Given the description of an element on the screen output the (x, y) to click on. 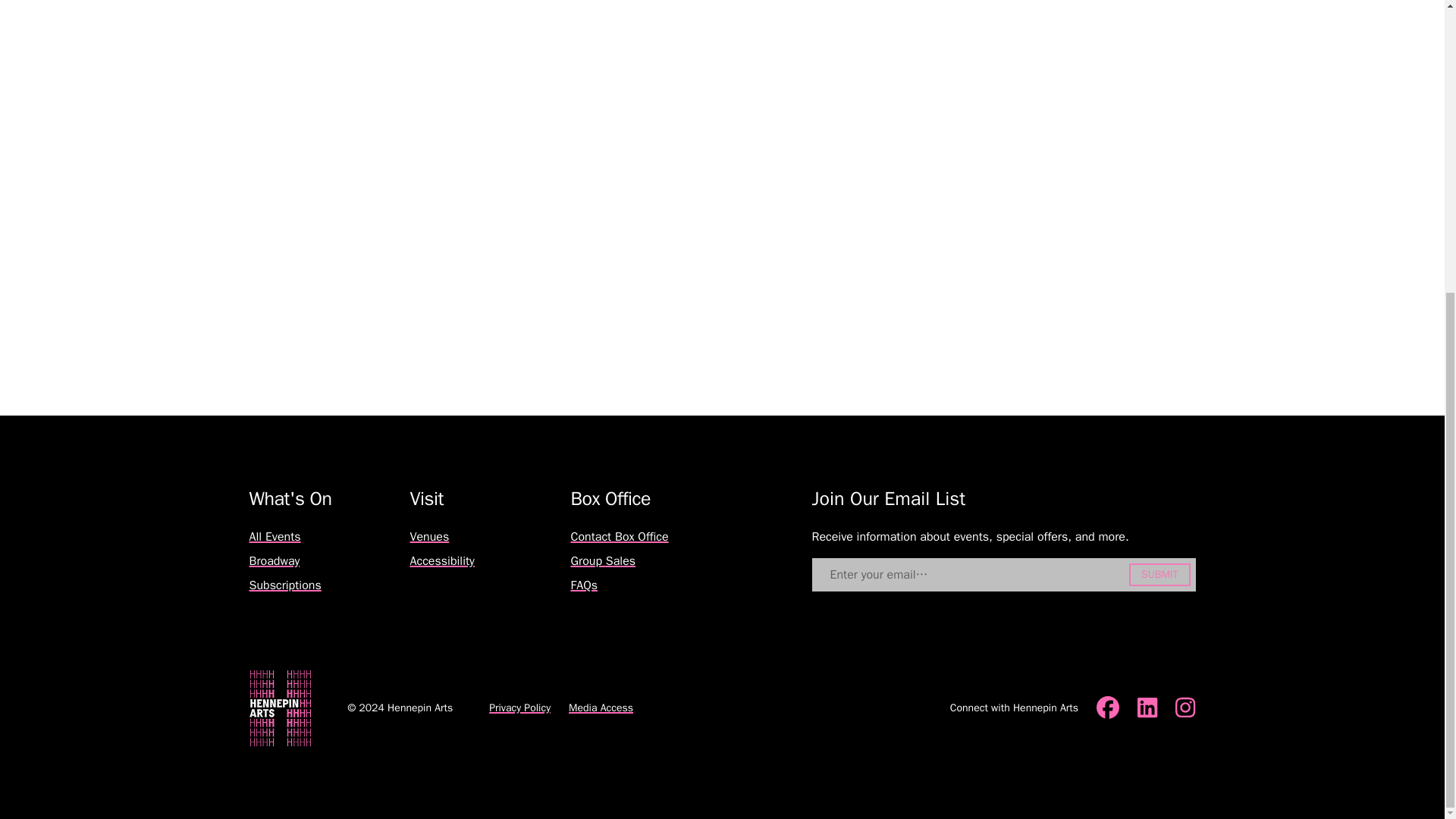
FAQs (583, 585)
Media Access (601, 707)
Venues (428, 536)
SUBMIT (1159, 574)
Group Sales (602, 560)
Subscriptions (284, 585)
Broadway (273, 560)
Contact Box Office (619, 536)
All Events (273, 536)
Accessibility (441, 560)
Privacy Policy (519, 707)
